Given the description of an element on the screen output the (x, y) to click on. 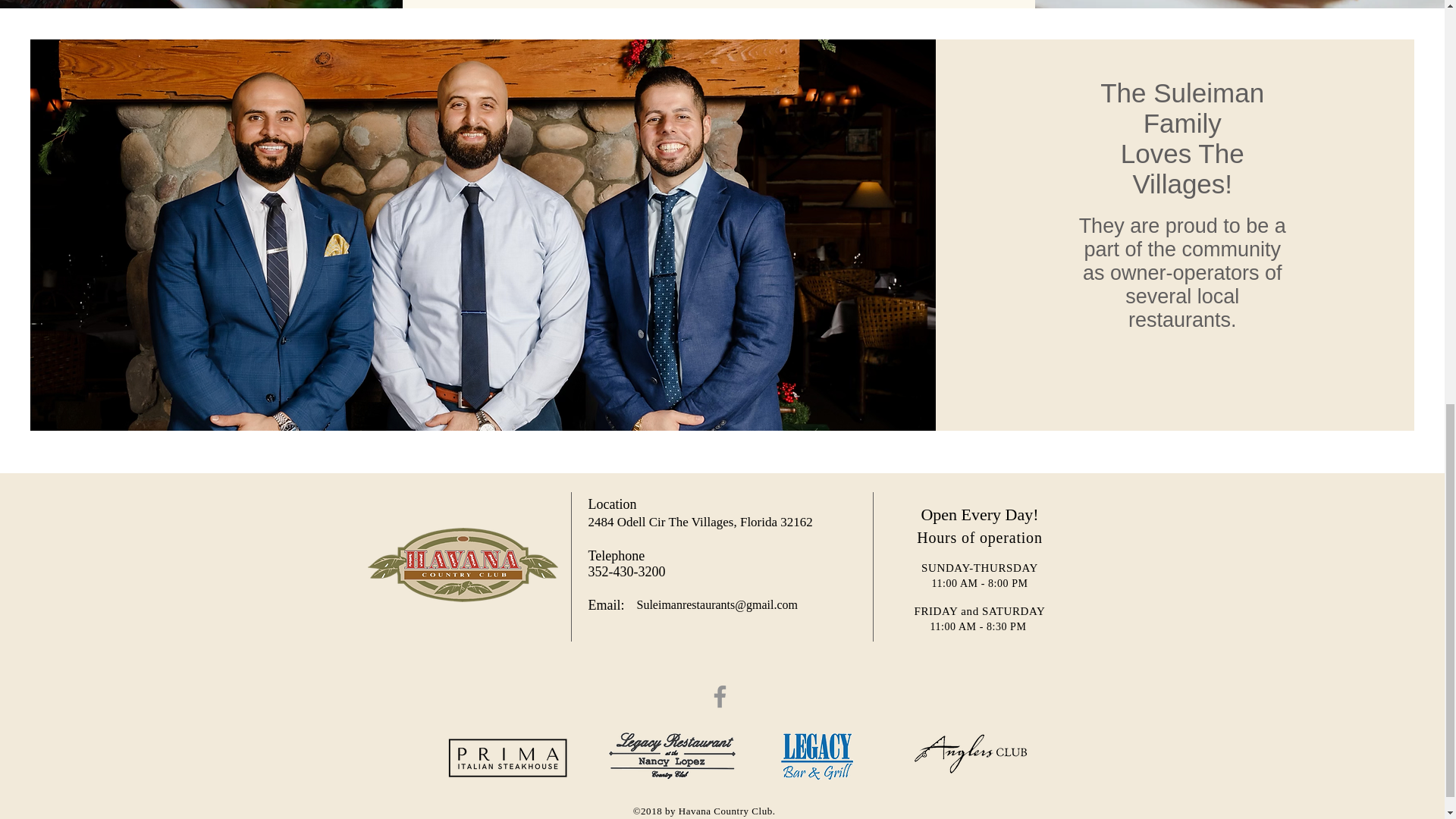
Open Every Day! (979, 514)
352-430-3200 (626, 571)
